Given the description of an element on the screen output the (x, y) to click on. 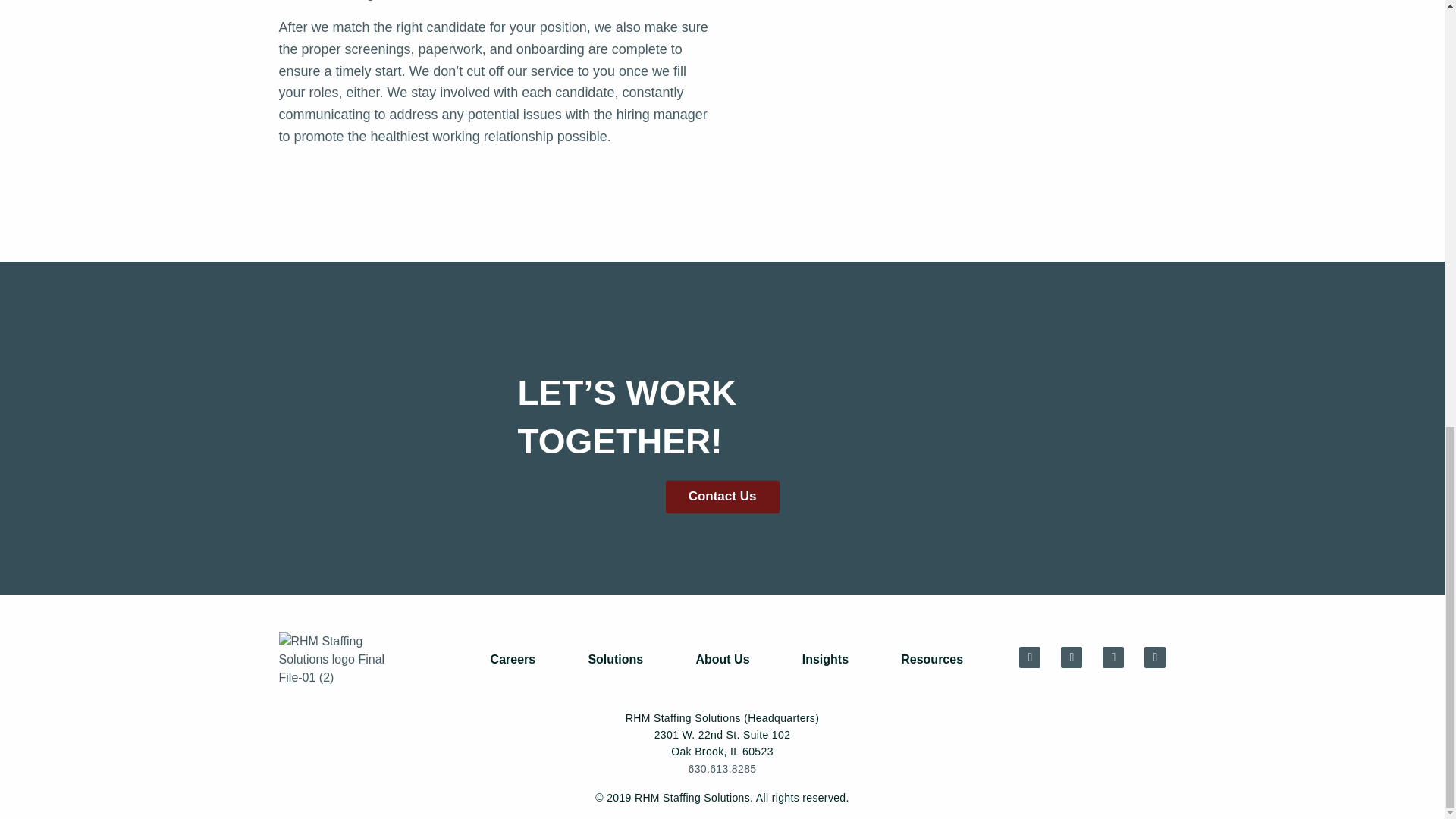
Resources (932, 659)
Careers (513, 659)
Solutions (614, 659)
Contact Us (721, 496)
About Us (722, 659)
630.613.8285 (722, 768)
Insights (825, 659)
